Given the description of an element on the screen output the (x, y) to click on. 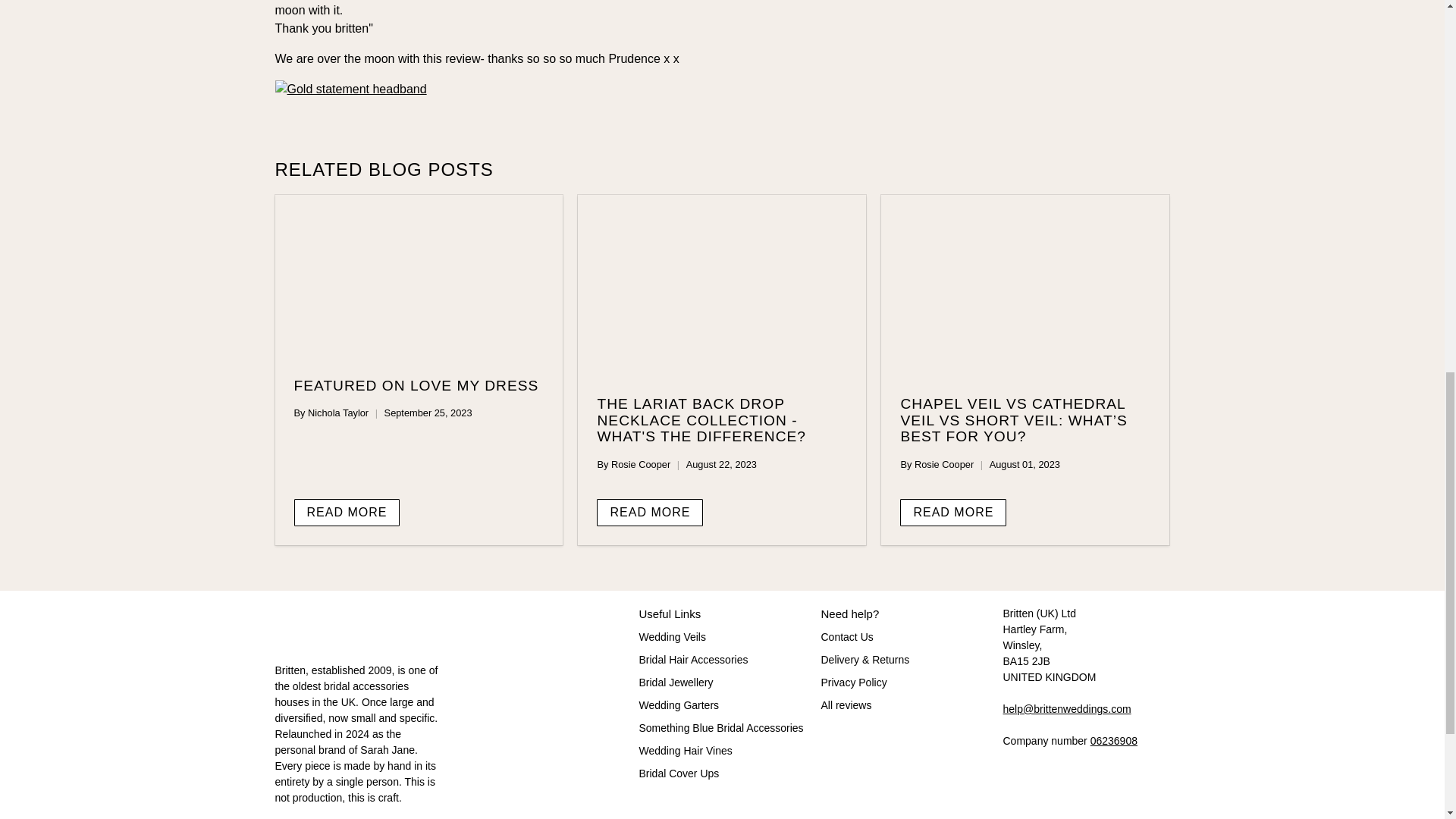
Featured on Love My Dress (416, 385)
Featured on Love My Dress (419, 277)
gold statement headband (350, 88)
Get in touch with Britten (1067, 708)
